Given the description of an element on the screen output the (x, y) to click on. 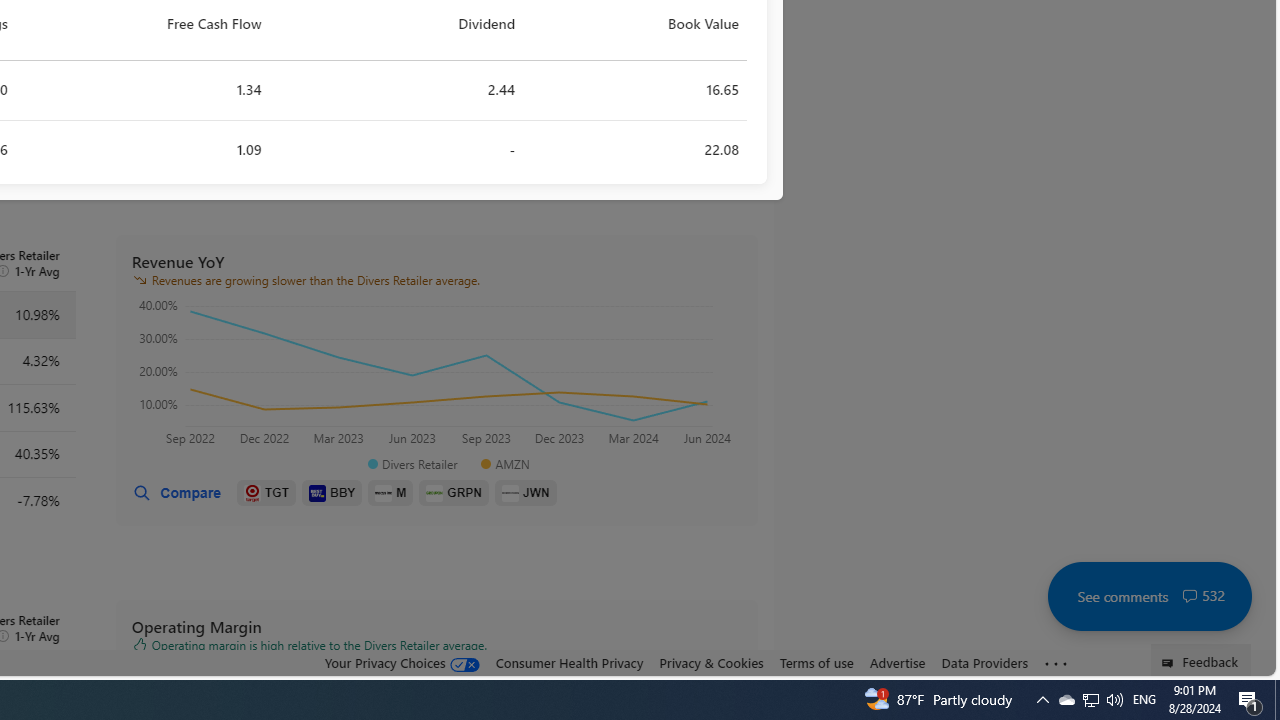
Consumer Health Privacy (569, 662)
See more (1055, 664)
Feedback (1200, 659)
Terms of use (816, 663)
Advertise (897, 662)
Consumer Health Privacy (569, 663)
Data Providers (983, 662)
Data Providers (983, 663)
M (390, 493)
GRPN (454, 493)
Terms of use (816, 662)
Class: oneFooter_seeMore-DS-EntryPoint1-1 (1055, 663)
